Given the description of an element on the screen output the (x, y) to click on. 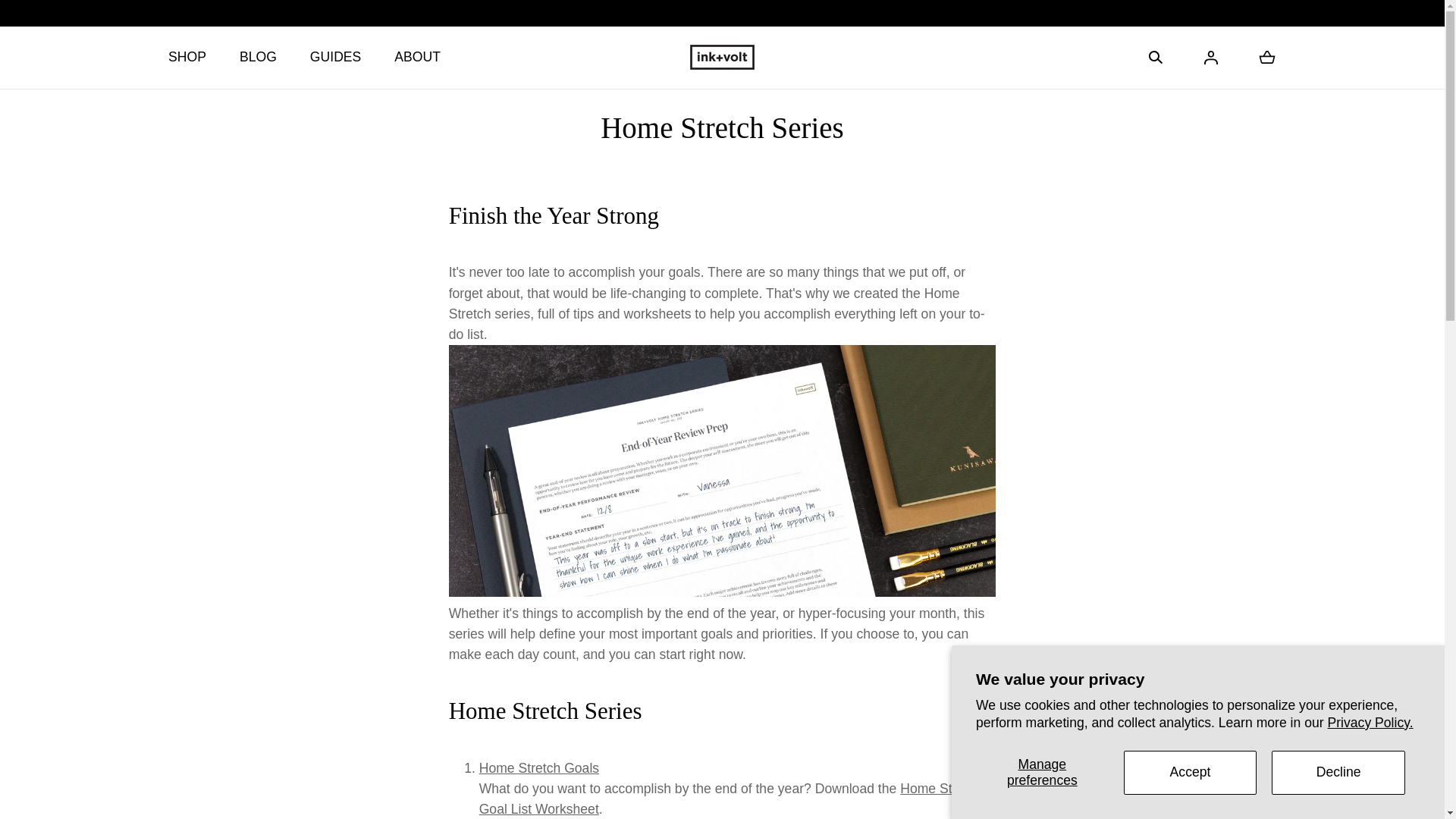
Privacy Policy. (1370, 722)
home stretch worksheet goal list (730, 798)
Manage preferences (1041, 772)
Decline (1338, 772)
SKIP TO CONTENT (88, 20)
Accept (1190, 772)
